Given the description of an element on the screen output the (x, y) to click on. 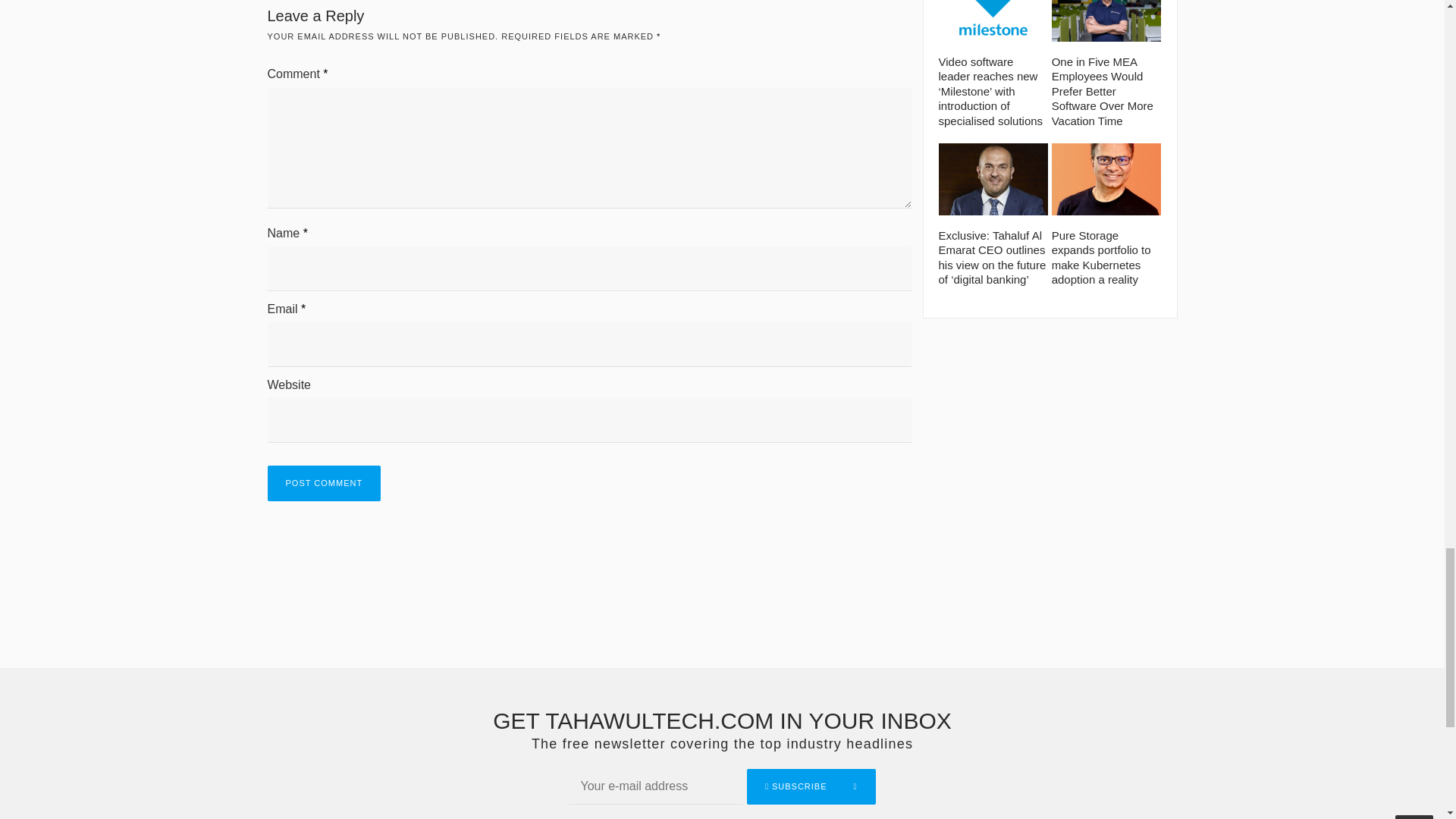
Post Comment (323, 483)
